Given the description of an element on the screen output the (x, y) to click on. 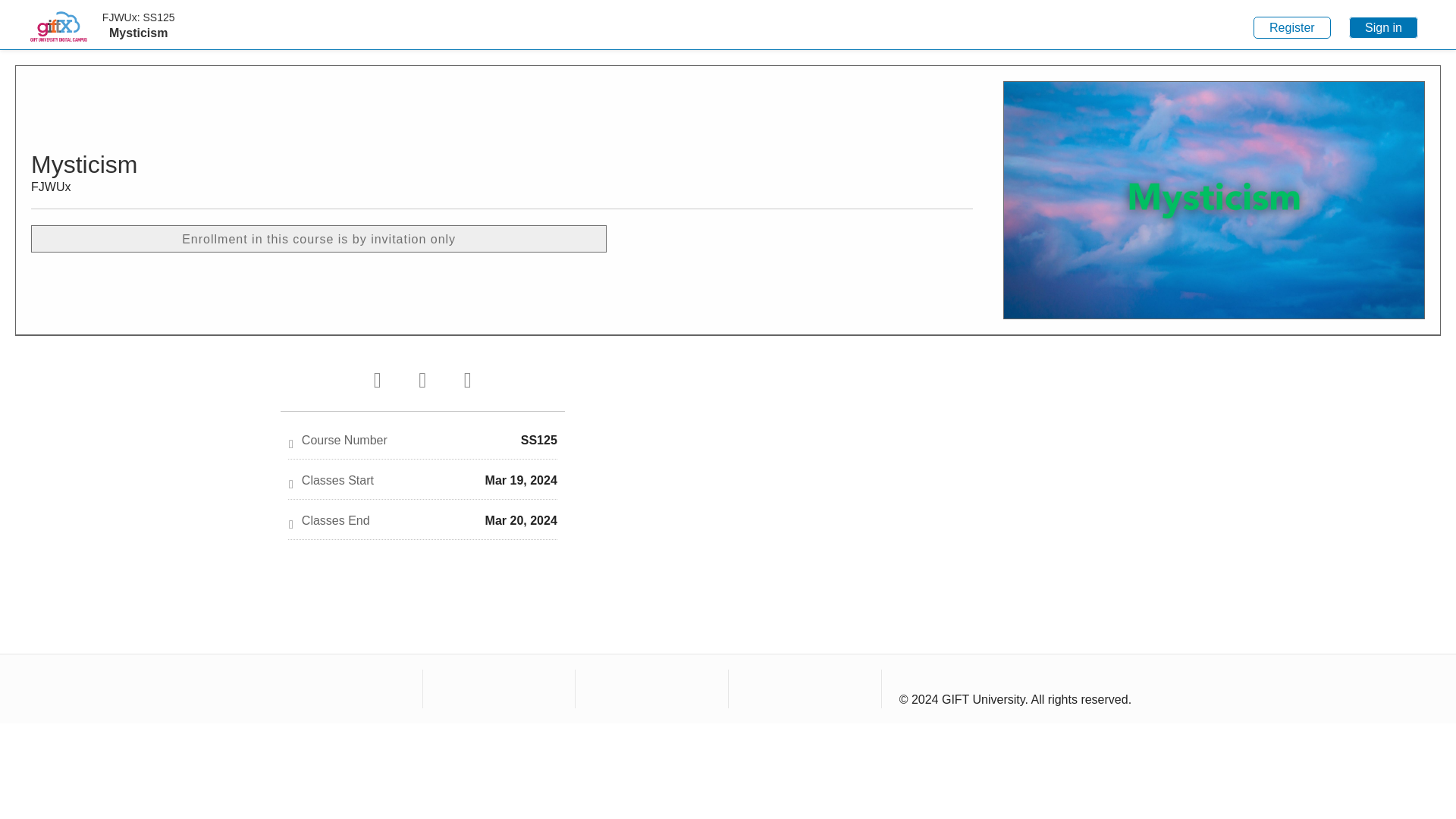
Email someone to say you've enrolled in this course (467, 383)
Sign in (1383, 27)
Tweet that you've enrolled in this course (377, 383)
Register (1291, 27)
